Given the description of an element on the screen output the (x, y) to click on. 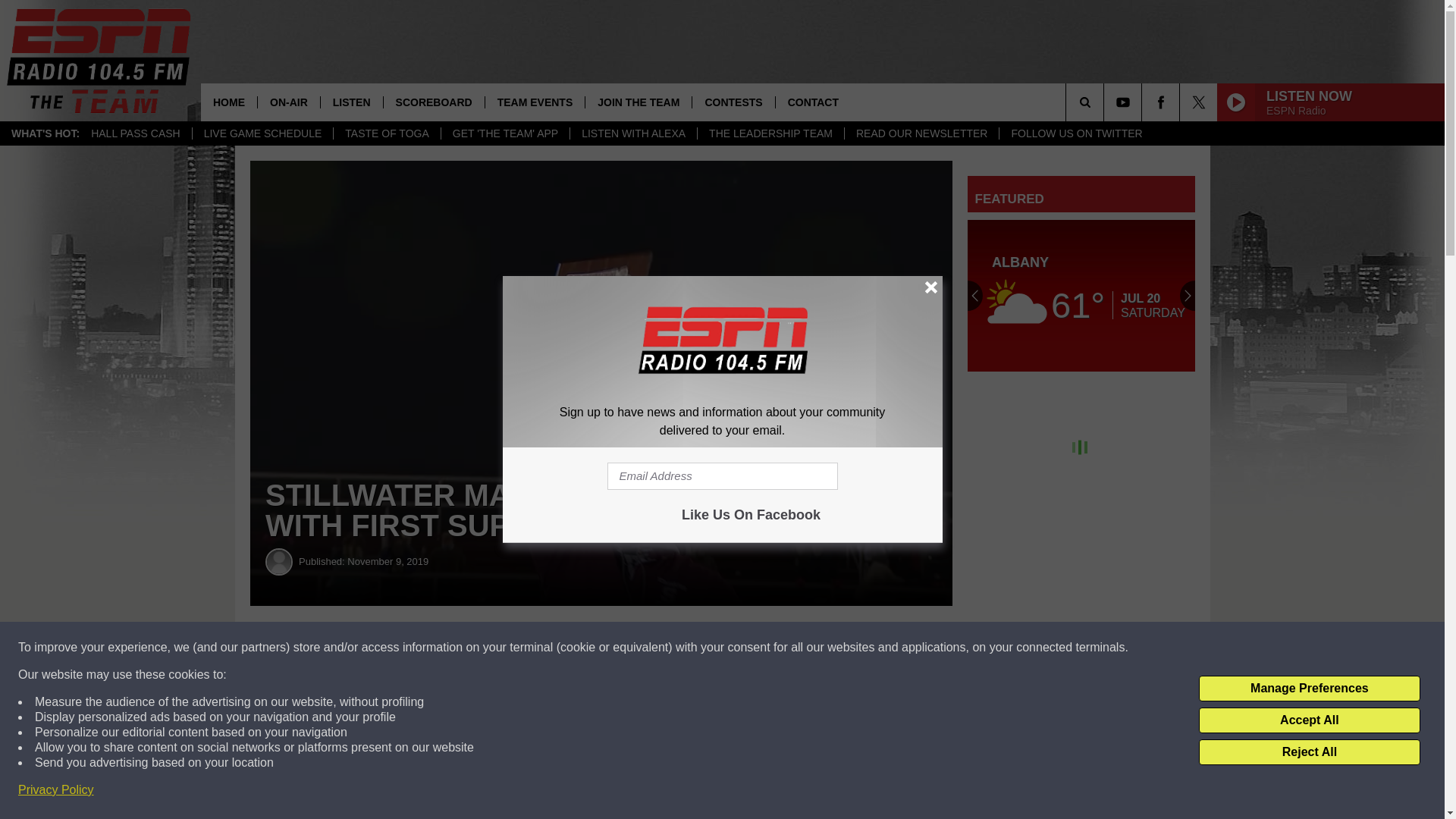
HALL PASS CASH (136, 133)
TASTE OF TOGA (386, 133)
READ OUR NEWSLETTER (921, 133)
SCOREBOARD (433, 102)
ON-AIR (288, 102)
LISTEN (351, 102)
LISTEN WITH ALEXA (633, 133)
THE LEADERSHIP TEAM (770, 133)
Share on Twitter (741, 647)
LIVE GAME SCHEDULE (262, 133)
Albany Weather (1081, 295)
Email Address (722, 475)
GET 'THE TEAM' APP (505, 133)
TEAM EVENTS (534, 102)
SEARCH (1106, 102)
